Given the description of an element on the screen output the (x, y) to click on. 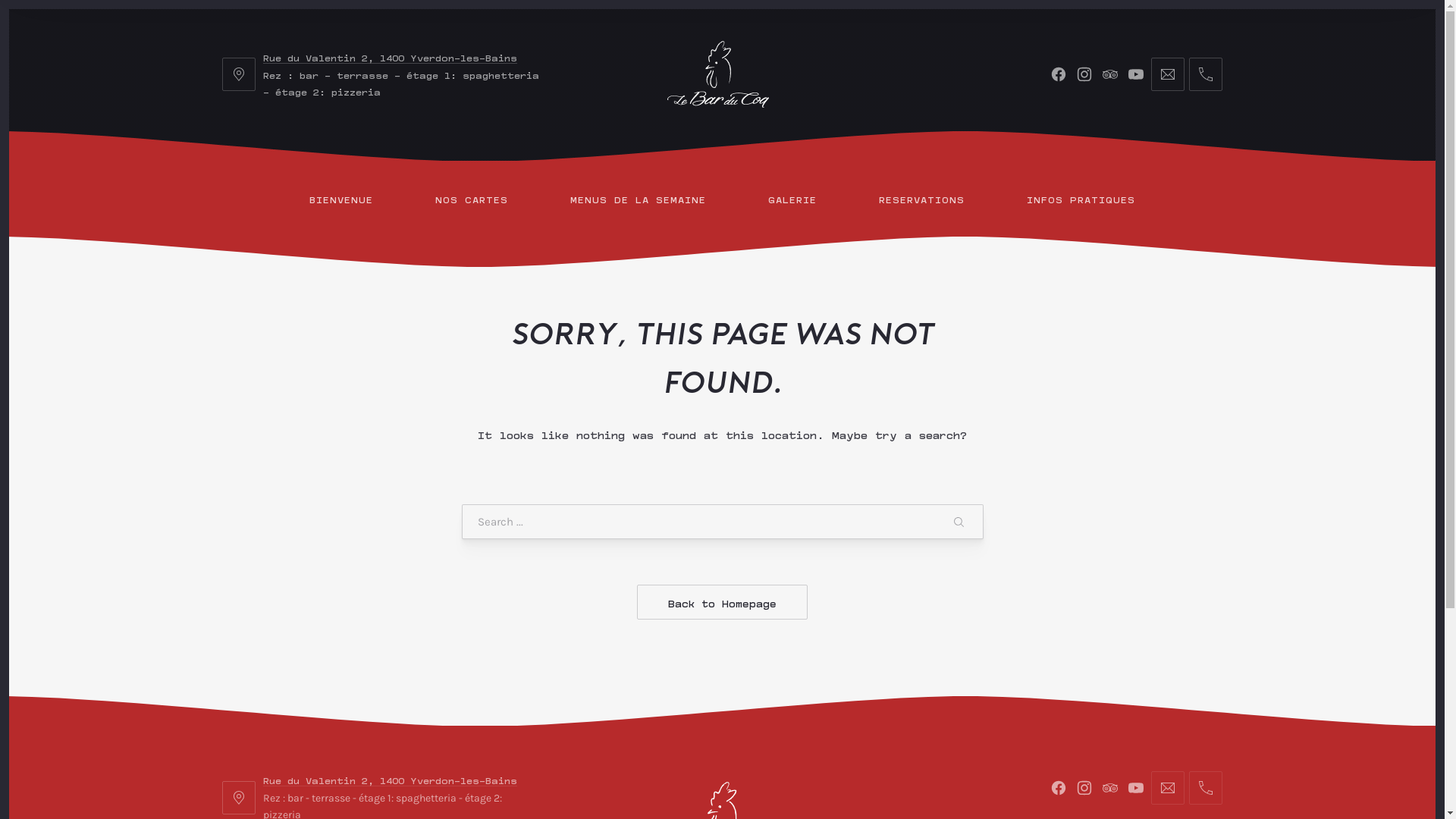
+41 24 524 30 36 Element type: hover (1205, 787)
YouTube Element type: hover (1135, 787)
Facebook Element type: hover (1058, 74)
Rue du Valentin 2, 1400 Yverdon-les-Bains Element type: text (389, 779)
contact@barducoq.ch Element type: hover (1167, 787)
TripAdvisor Element type: hover (1110, 74)
BIENVENUE Element type: text (341, 198)
MENUS DE LA SEMAINE Element type: text (637, 198)
Rue du Valentin 2, 1400 Yverdon-les-Bains Element type: text (389, 56)
+41 24 524 30 36 Element type: hover (1205, 74)
Back to Homepage Element type: text (722, 601)
Instagram Element type: hover (1084, 74)
YouTube Element type: hover (1135, 74)
GALERIE Element type: text (792, 198)
Facebook Element type: hover (1058, 787)
RESERVATIONS Element type: text (921, 198)
Instagram Element type: hover (1084, 787)
contact@barducoq.ch Element type: hover (1167, 74)
NOS CARTES Element type: text (471, 198)
INFOS PRATIQUES Element type: text (1080, 198)
TripAdvisor Element type: hover (1110, 787)
